Given the description of an element on the screen output the (x, y) to click on. 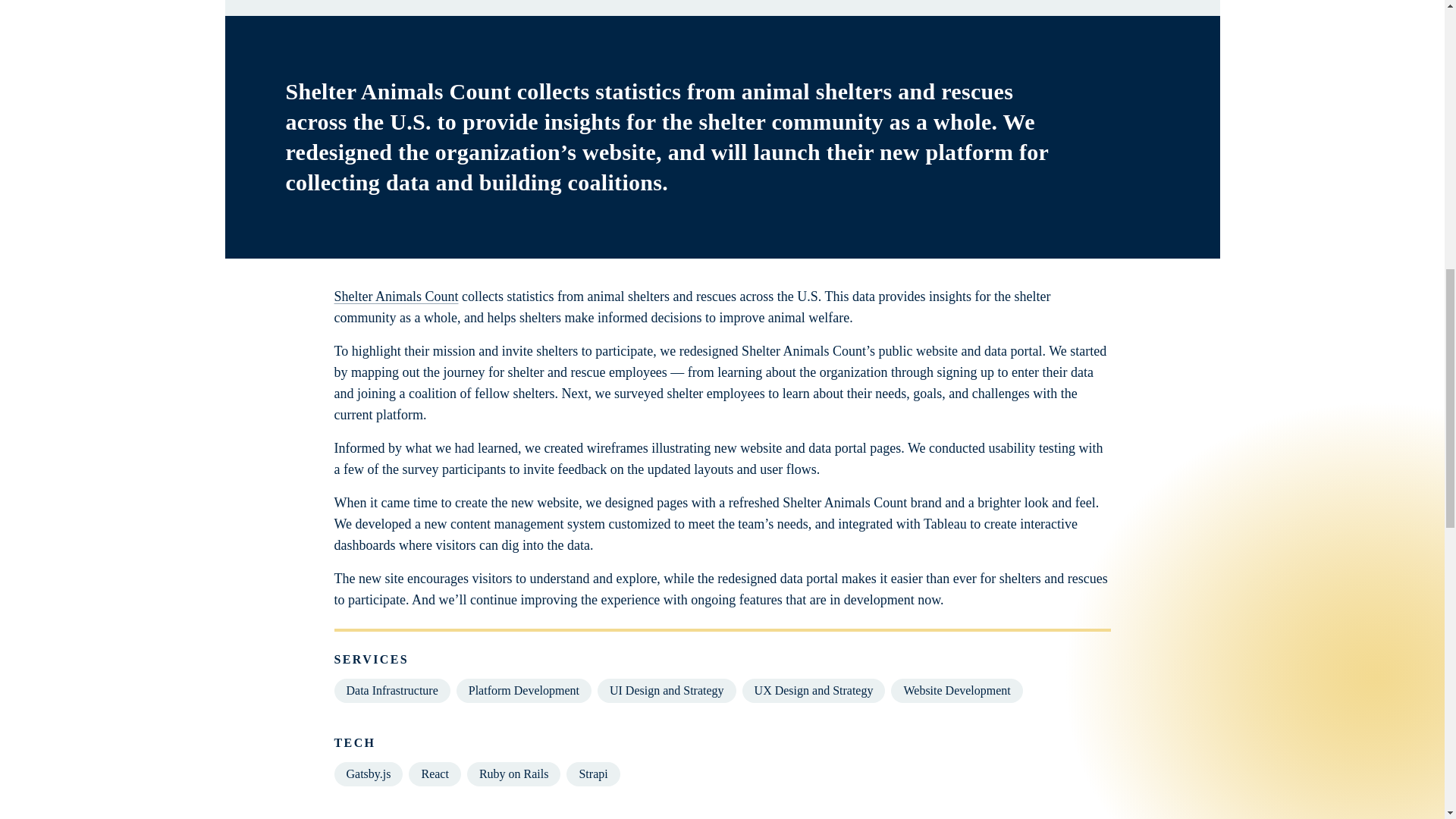
Shelter Animals Count (395, 296)
UI Design and Strategy (666, 690)
Website Development (956, 690)
Ruby on Rails (513, 774)
React (434, 774)
Strapi (593, 774)
Platform Development (524, 690)
Data Infrastructure (391, 690)
Gatsby.js (368, 774)
UX Design and Strategy (813, 690)
